Given the description of an element on the screen output the (x, y) to click on. 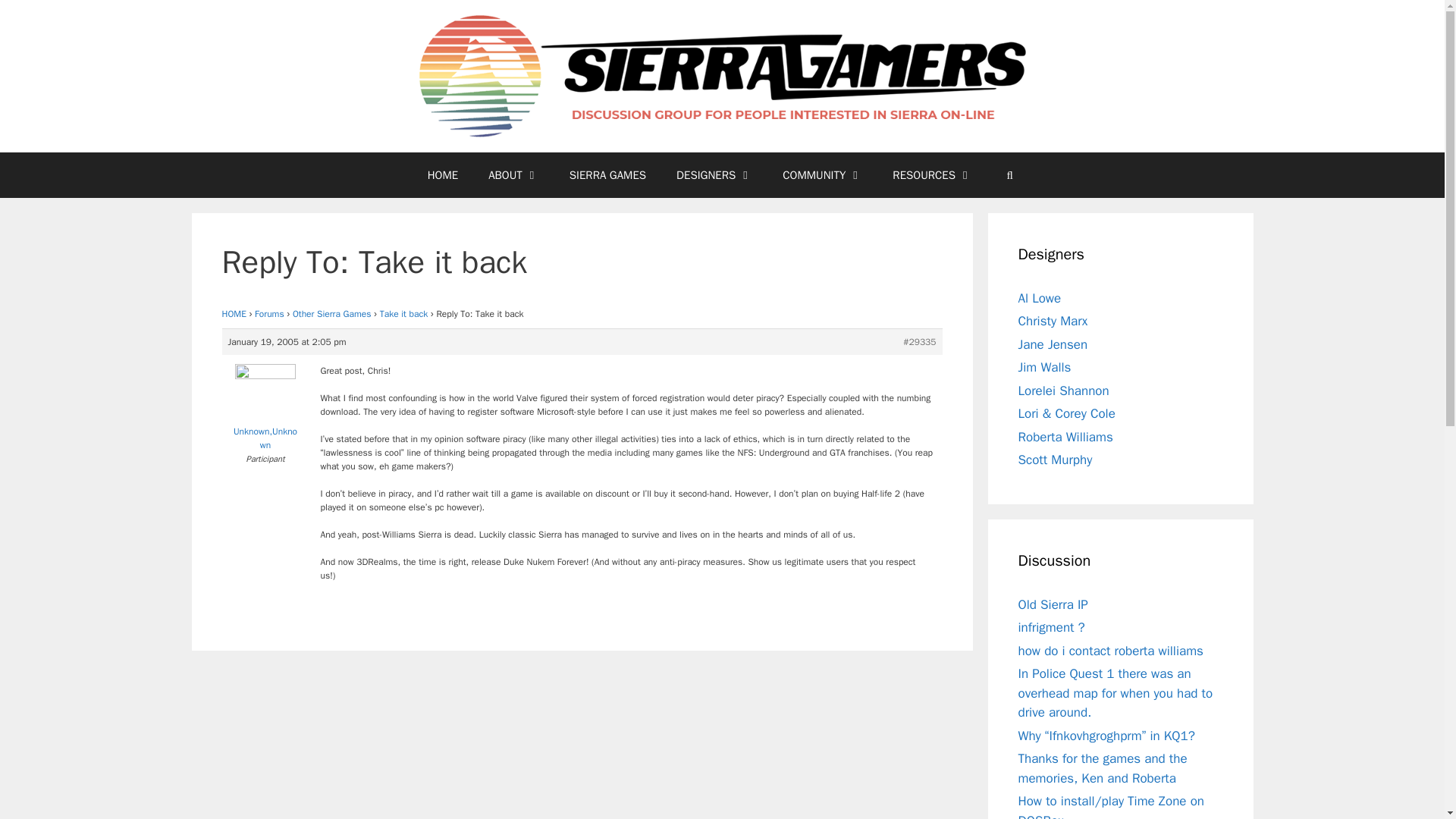
COMMUNITY (822, 175)
View Unknown,Unknown's profile (264, 411)
DESIGNERS (714, 175)
Take it back (404, 313)
Al Lowe (1039, 298)
HOME (233, 313)
Christy Marx (1052, 320)
Other Sierra Games (331, 313)
RESOURCES (932, 175)
Forums (268, 313)
